Given the description of an element on the screen output the (x, y) to click on. 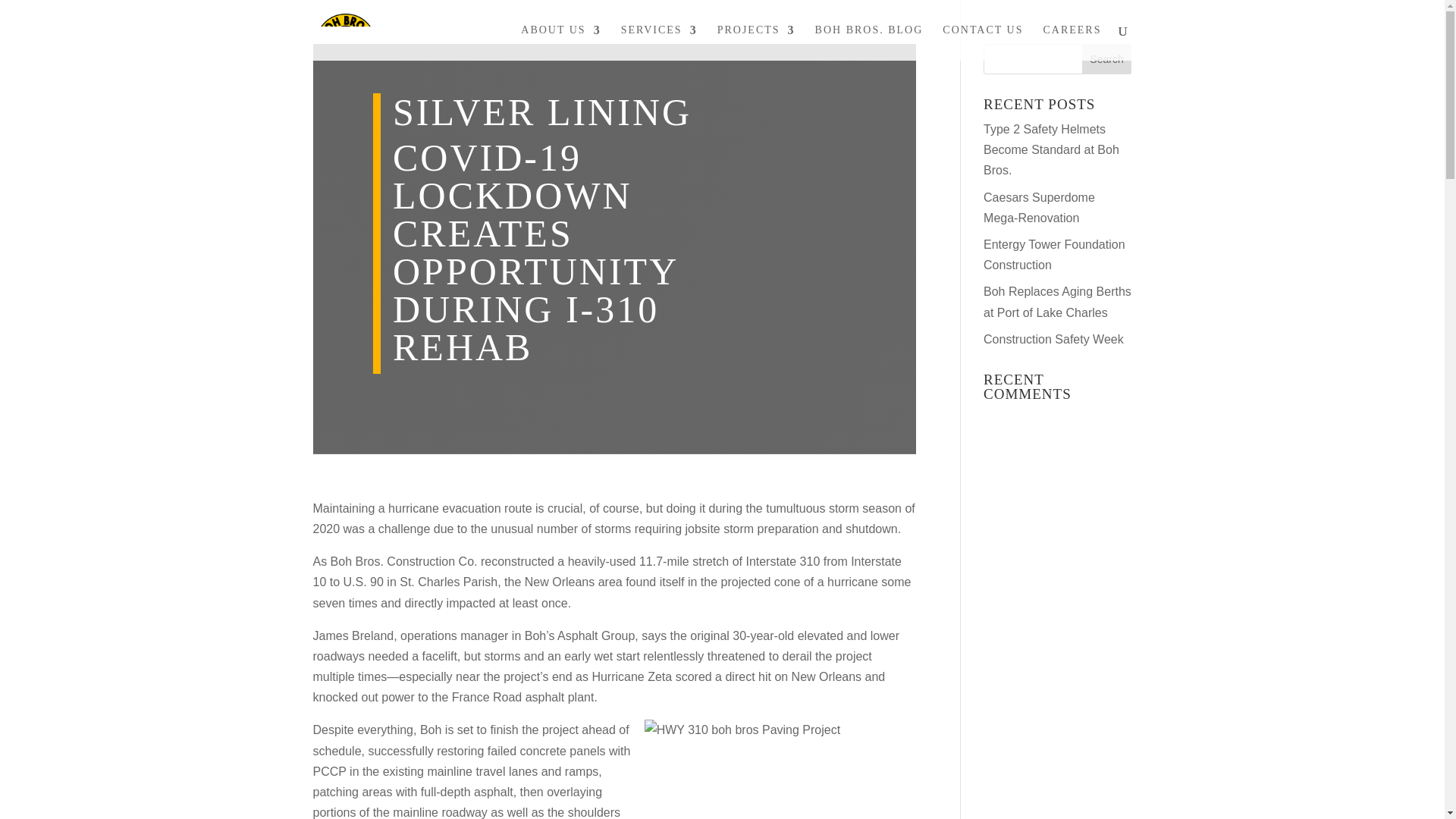
CONTACT US (982, 42)
CAREERS (1071, 42)
ABOUT US (560, 42)
BOH BROS. BLOG (869, 42)
Caesars Superdome Mega-Renovation (1039, 207)
Entergy Tower Foundation Construction (1054, 254)
Boh Replaces Aging Berths at Port of Lake Charles  (1057, 301)
PROJECTS (755, 42)
SERVICES (659, 42)
Search (1106, 59)
